Given the description of an element on the screen output the (x, y) to click on. 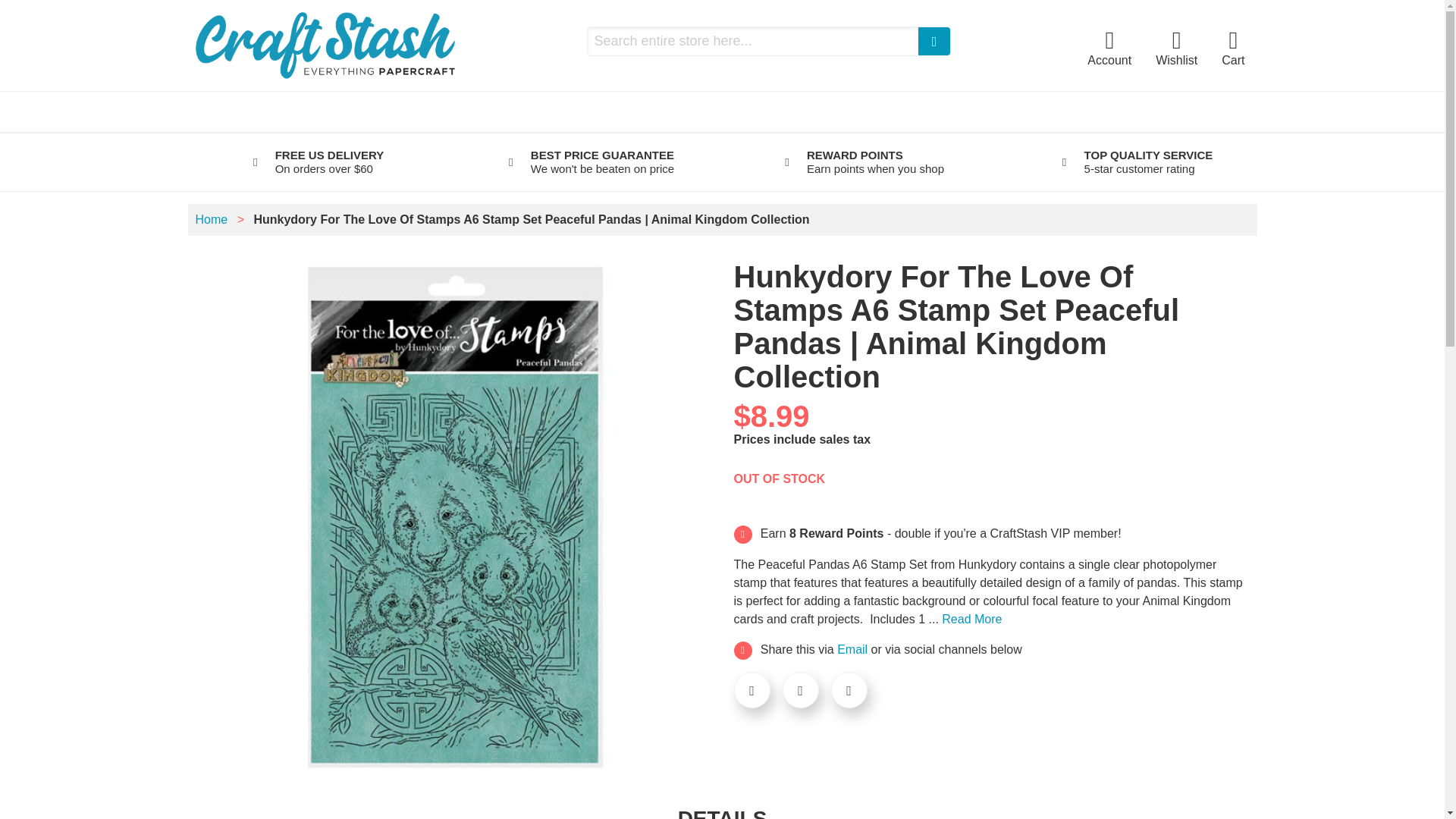
Share on Facebook (751, 689)
Go to Home Page (213, 219)
Share on Pinterest (849, 689)
Availability (779, 479)
Search (934, 41)
Share on Twitter (800, 689)
